Given the description of an element on the screen output the (x, y) to click on. 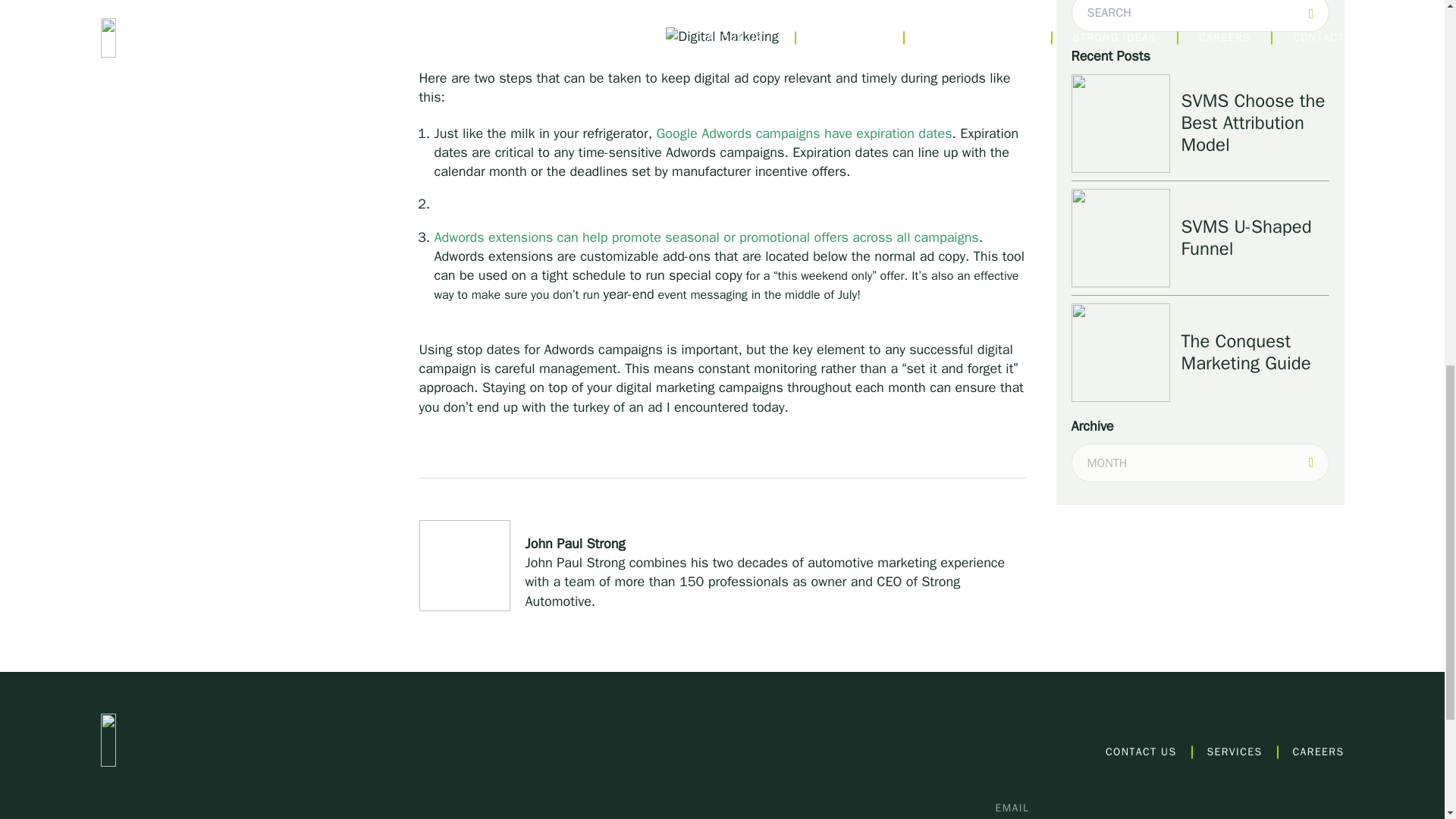
Strong Automotive (204, 739)
